Given the description of an element on the screen output the (x, y) to click on. 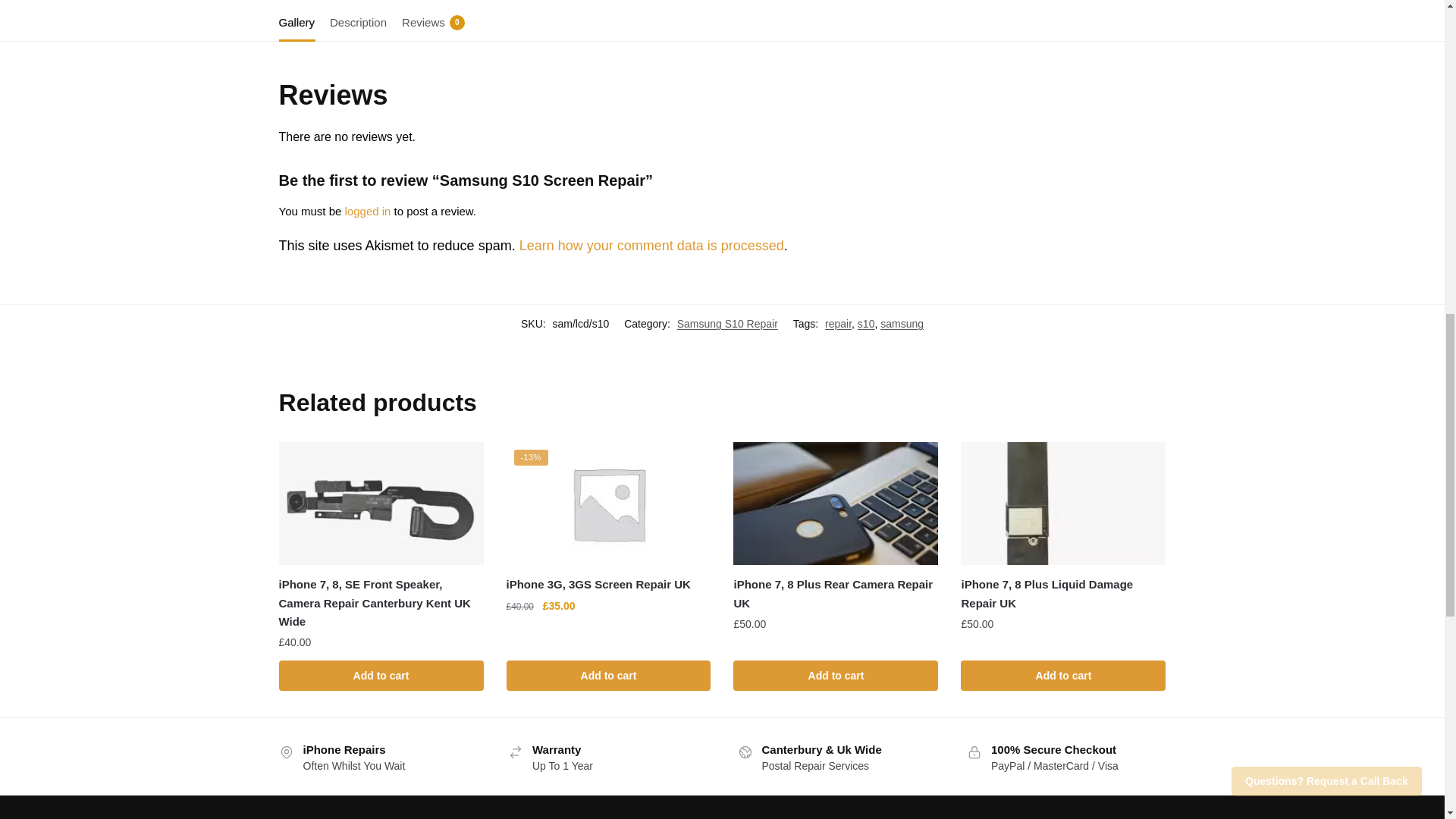
iPhone 7, 8 Plus Rear Camera Repair UK (835, 503)
iPhone 3G, 3GS Screen Repair UK (608, 503)
iPhone 7, 8 Plus Liquid Damage Repair UK (1063, 503)
